Given the description of an element on the screen output the (x, y) to click on. 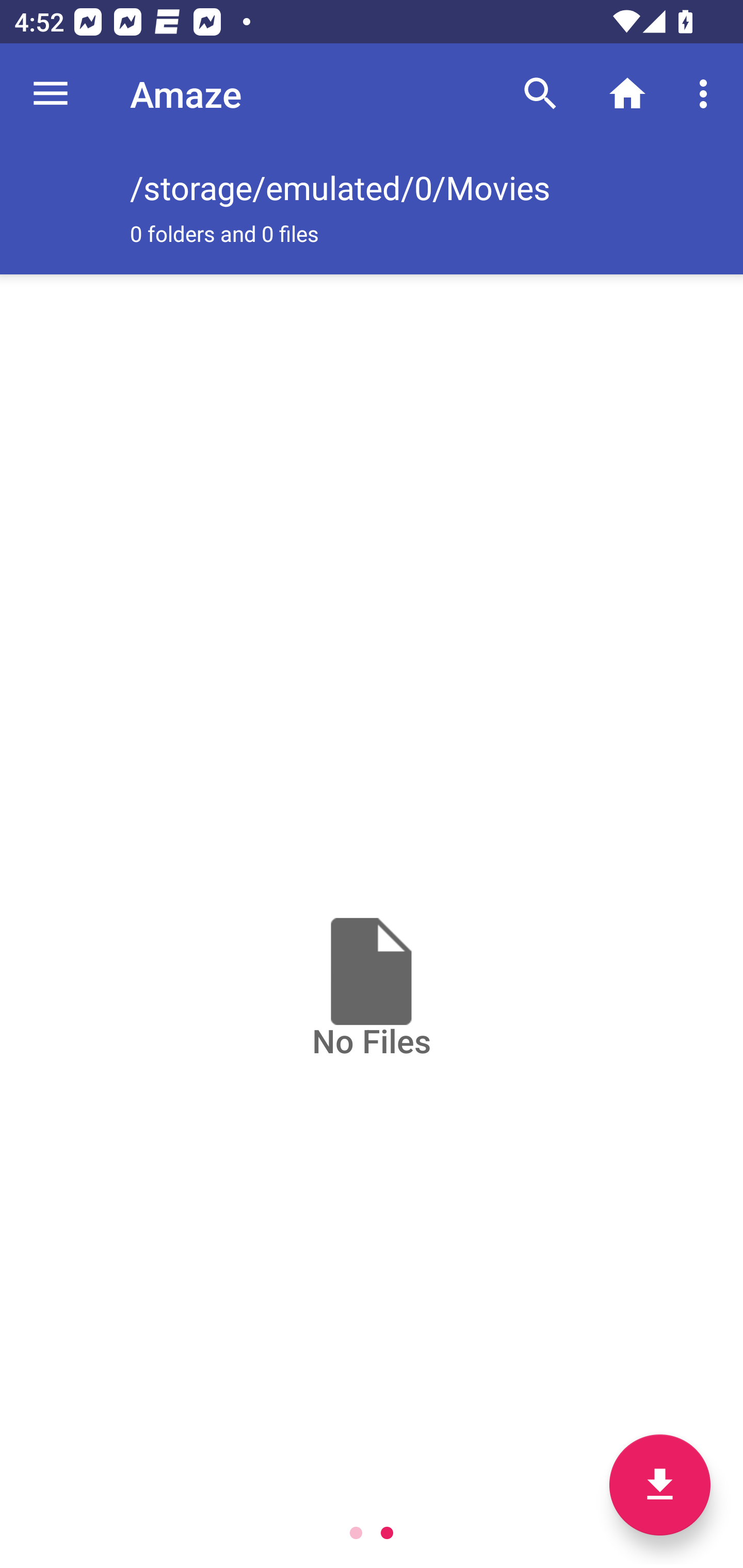
Navigate up (50, 93)
Search (540, 93)
Home (626, 93)
More options (706, 93)
